Given the description of an element on the screen output the (x, y) to click on. 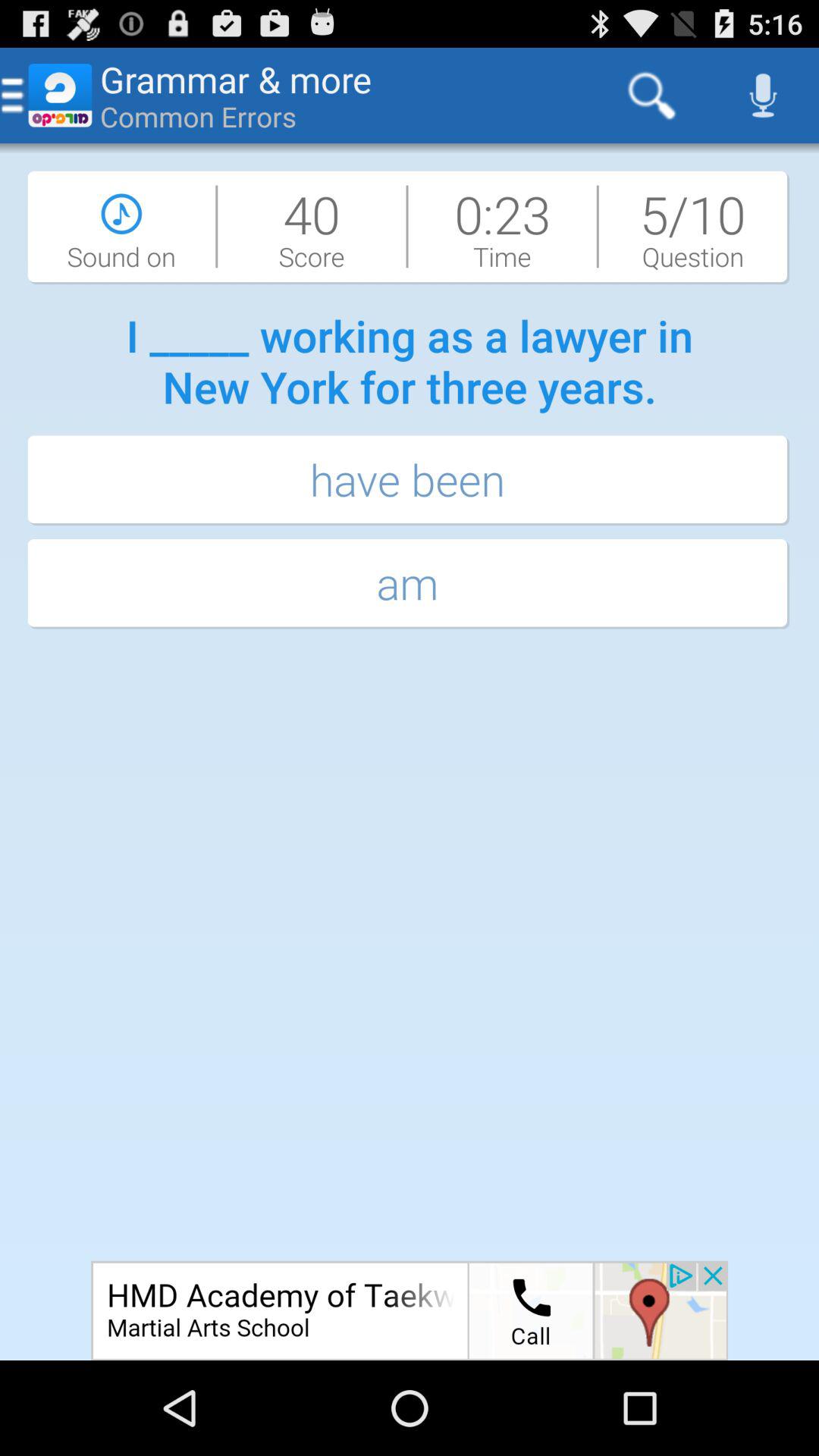
go to the advertised website (409, 1310)
